Given the description of an element on the screen output the (x, y) to click on. 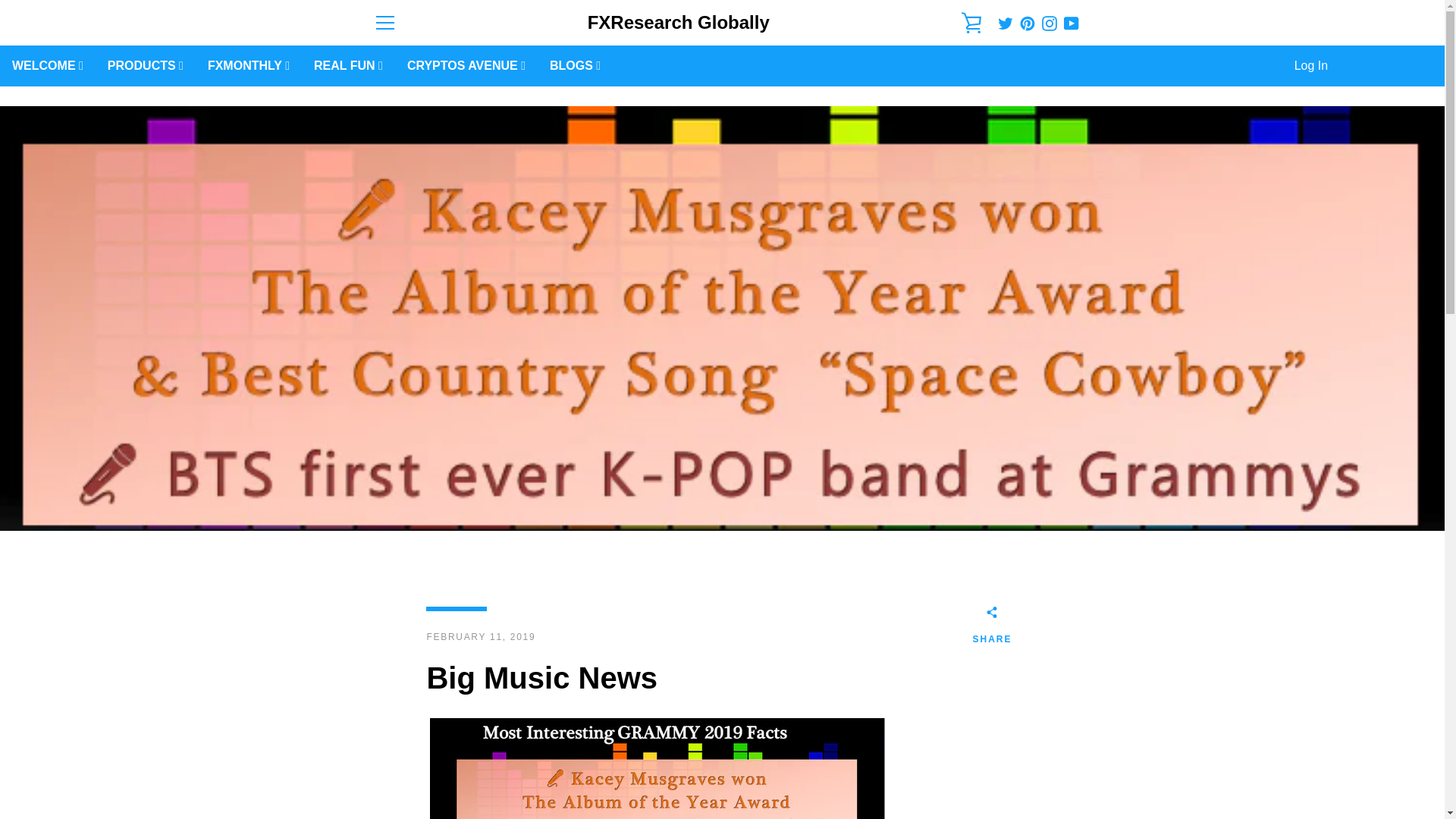
Pinterest (1027, 21)
Twitter (1005, 21)
VIEW CART (972, 22)
FXResearch Globally (679, 23)
MENU (384, 22)
